Given the description of an element on the screen output the (x, y) to click on. 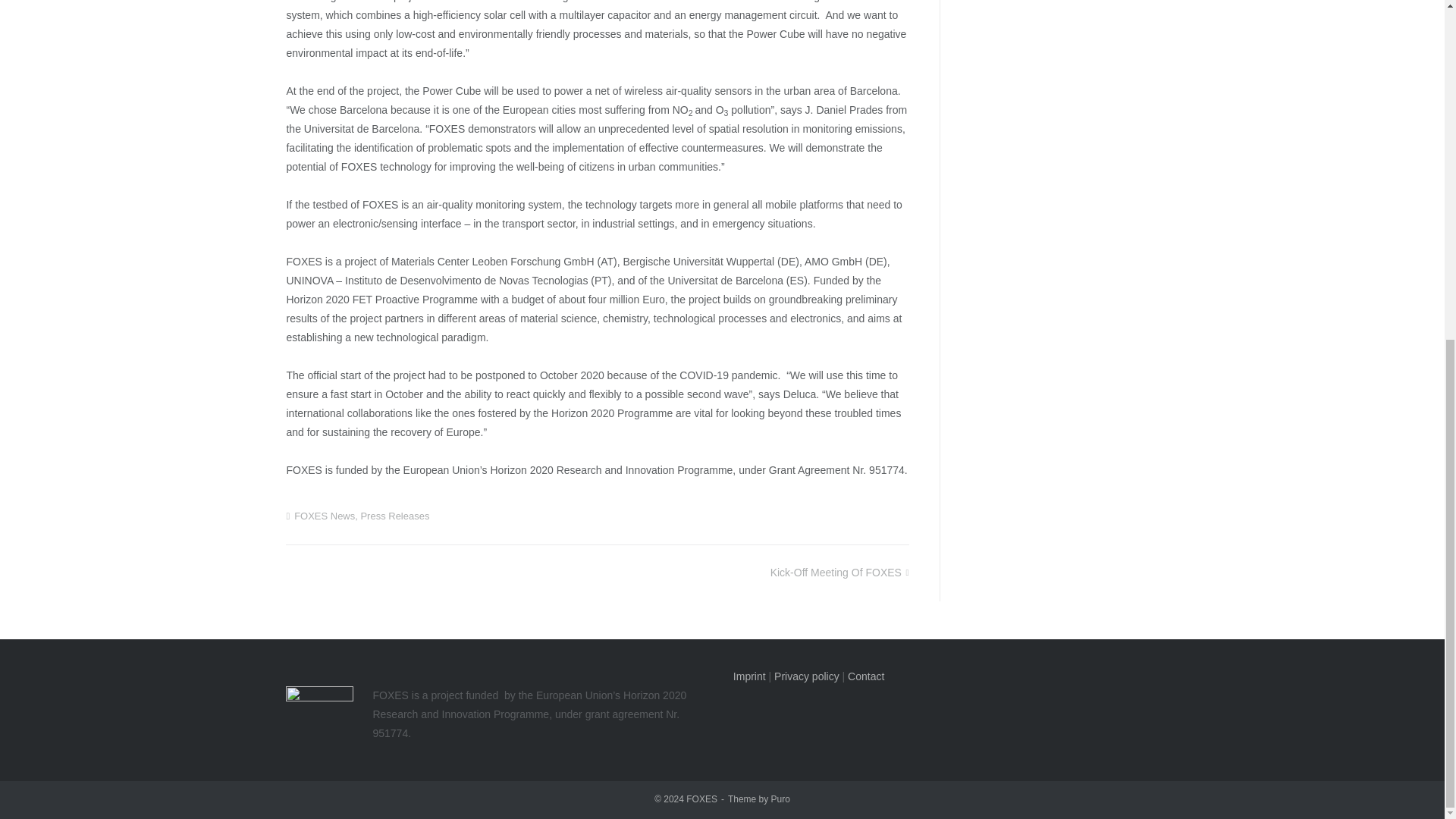
Contact (865, 676)
Privacy policy (807, 676)
Press Releases (394, 515)
FOXES News (324, 515)
Kick-Off Meeting Of FOXES (839, 572)
Puro (780, 798)
Imprint (749, 676)
FOXES (701, 798)
